Given the description of an element on the screen output the (x, y) to click on. 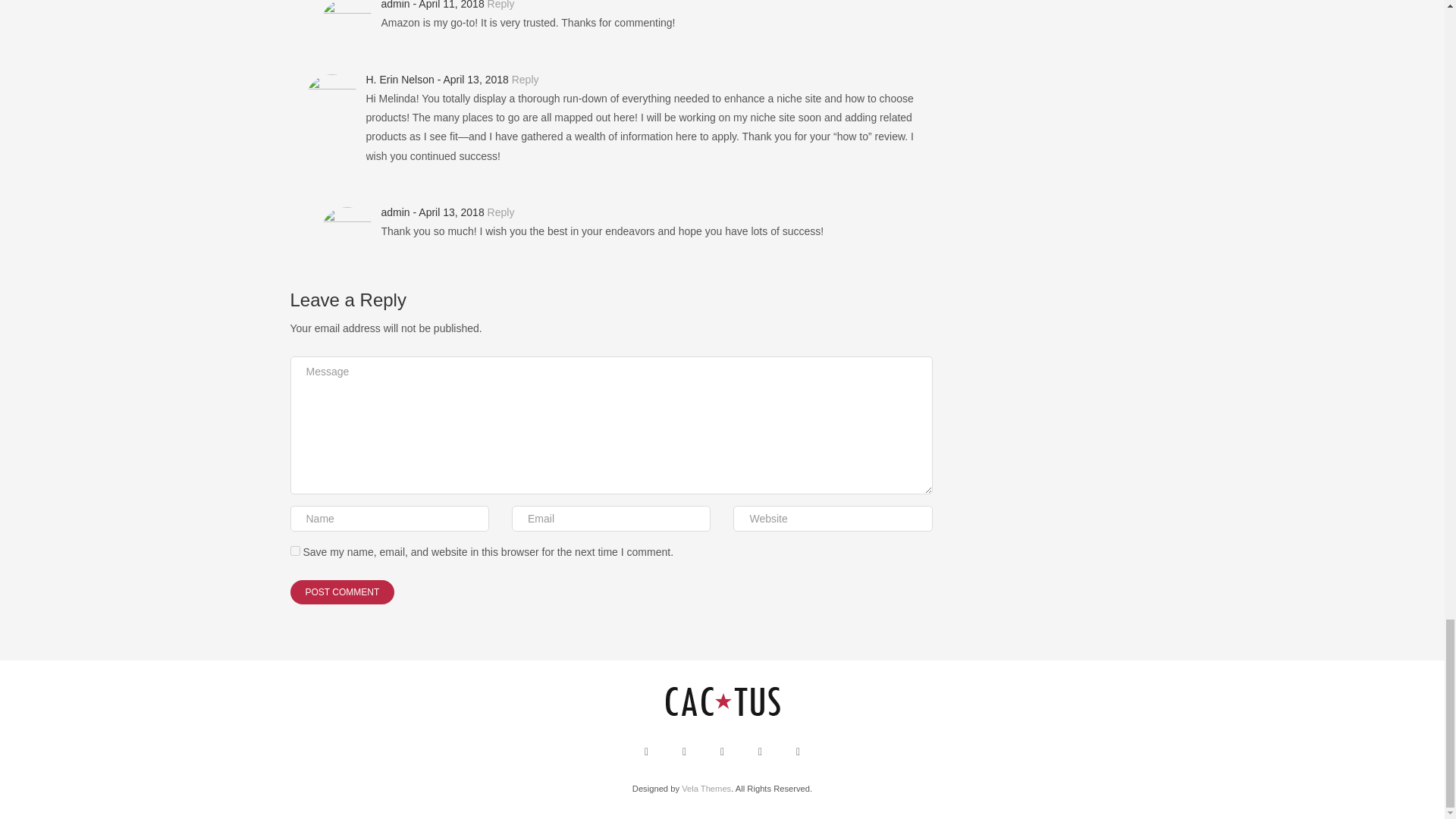
Reply (501, 212)
Post Comment (341, 591)
yes (294, 551)
Reply (501, 4)
Post Comment (341, 591)
Reply (525, 79)
